Given the description of an element on the screen output the (x, y) to click on. 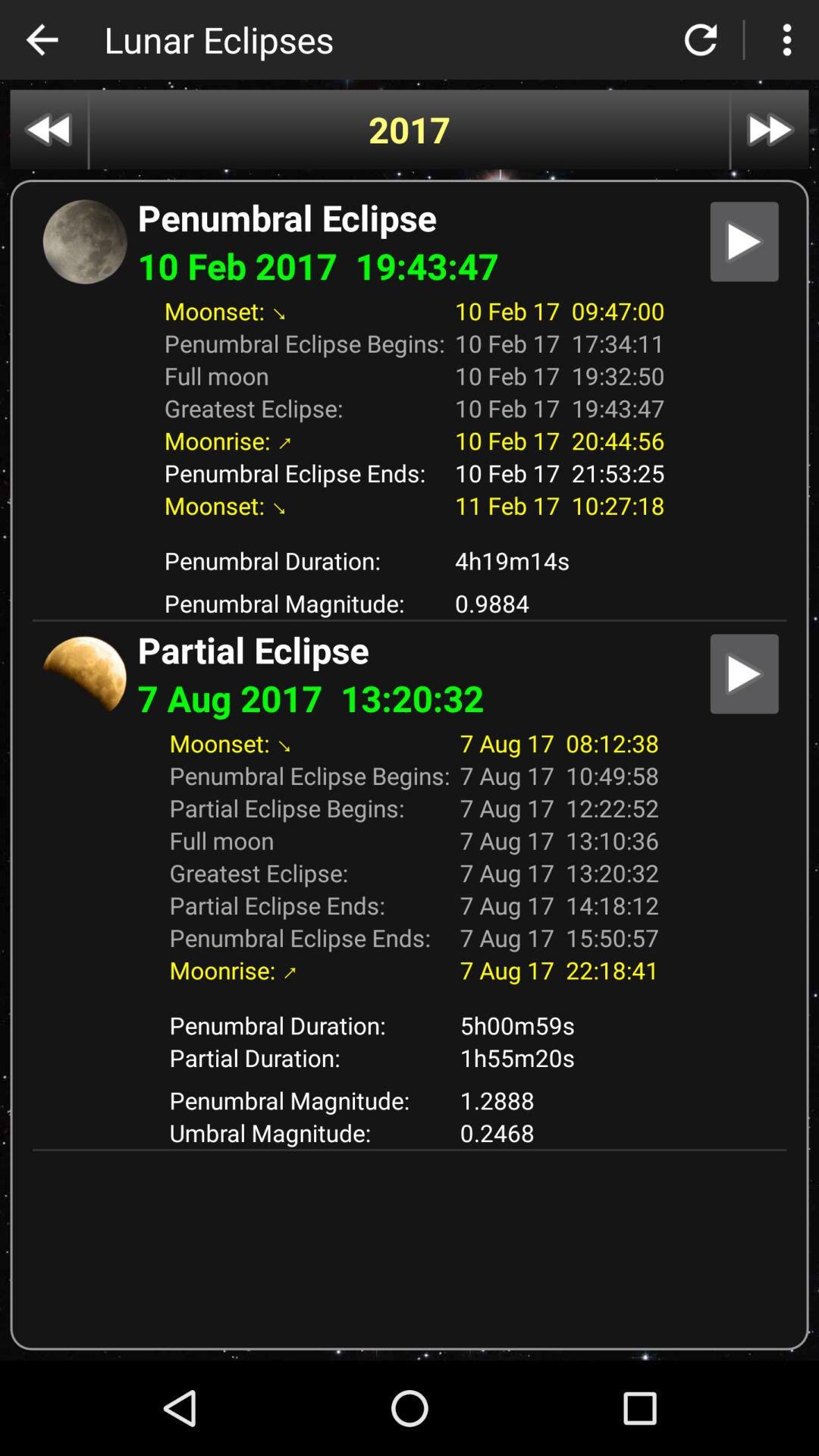
swipe until the 4h19m14s icon (559, 560)
